Given the description of an element on the screen output the (x, y) to click on. 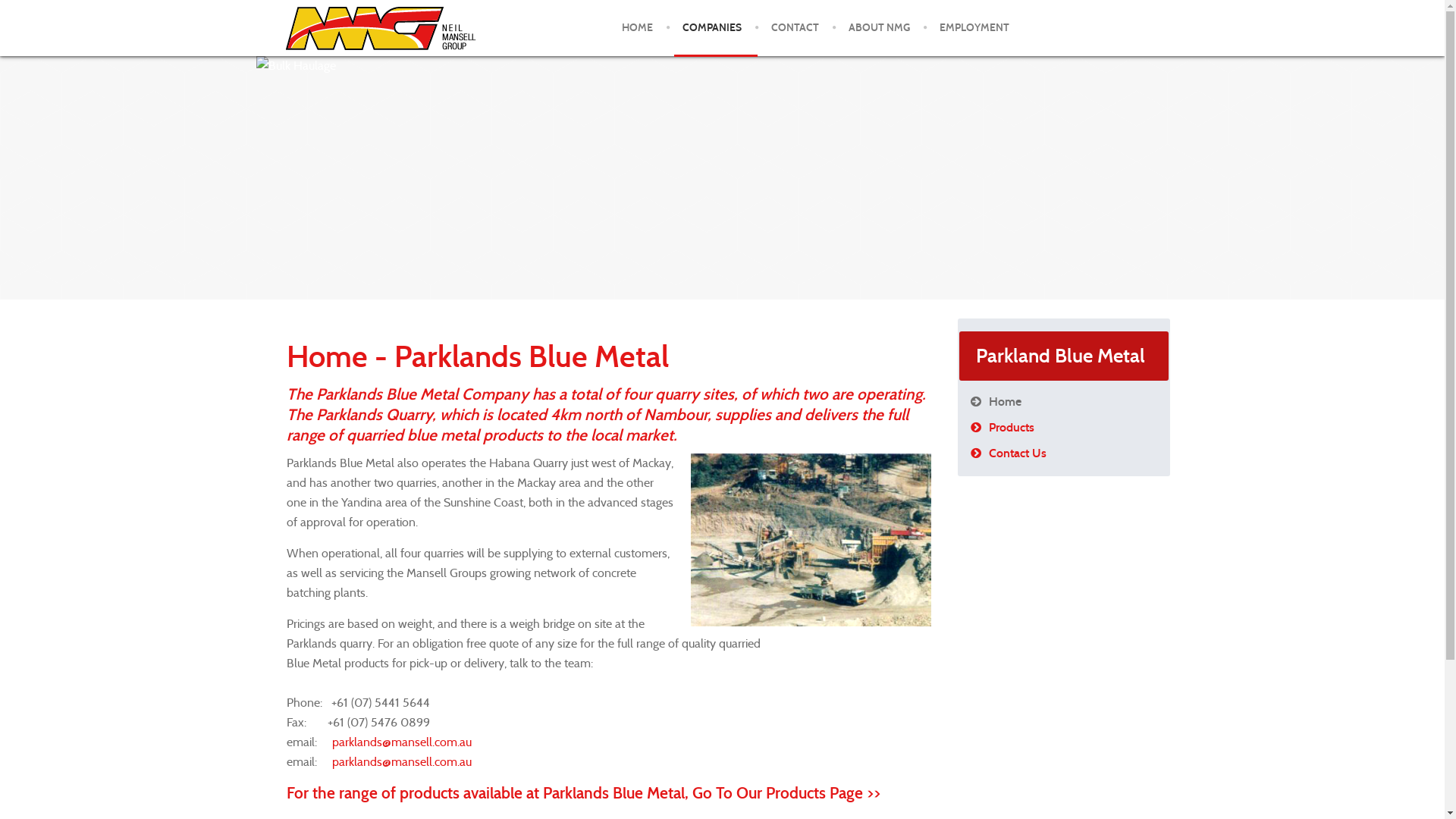
parklands@mansell.com.au Element type: text (401, 761)
Home Element type: text (1063, 401)
parklands@mansell.com.au Element type: text (401, 741)
COMPANIES Element type: text (711, 27)
Products Element type: text (1063, 427)
ABOUT NMG Element type: text (878, 27)
EMPLOYMENT Element type: text (973, 27)
Contact Us Element type: text (1063, 453)
Neil Mansell Group Element type: hover (380, 28)
Neil MAnsell Group - Parkland Blue Metal Element type: hover (810, 539)
HOME Element type: text (637, 27)
CONTACT Element type: text (794, 27)
